Given the description of an element on the screen output the (x, y) to click on. 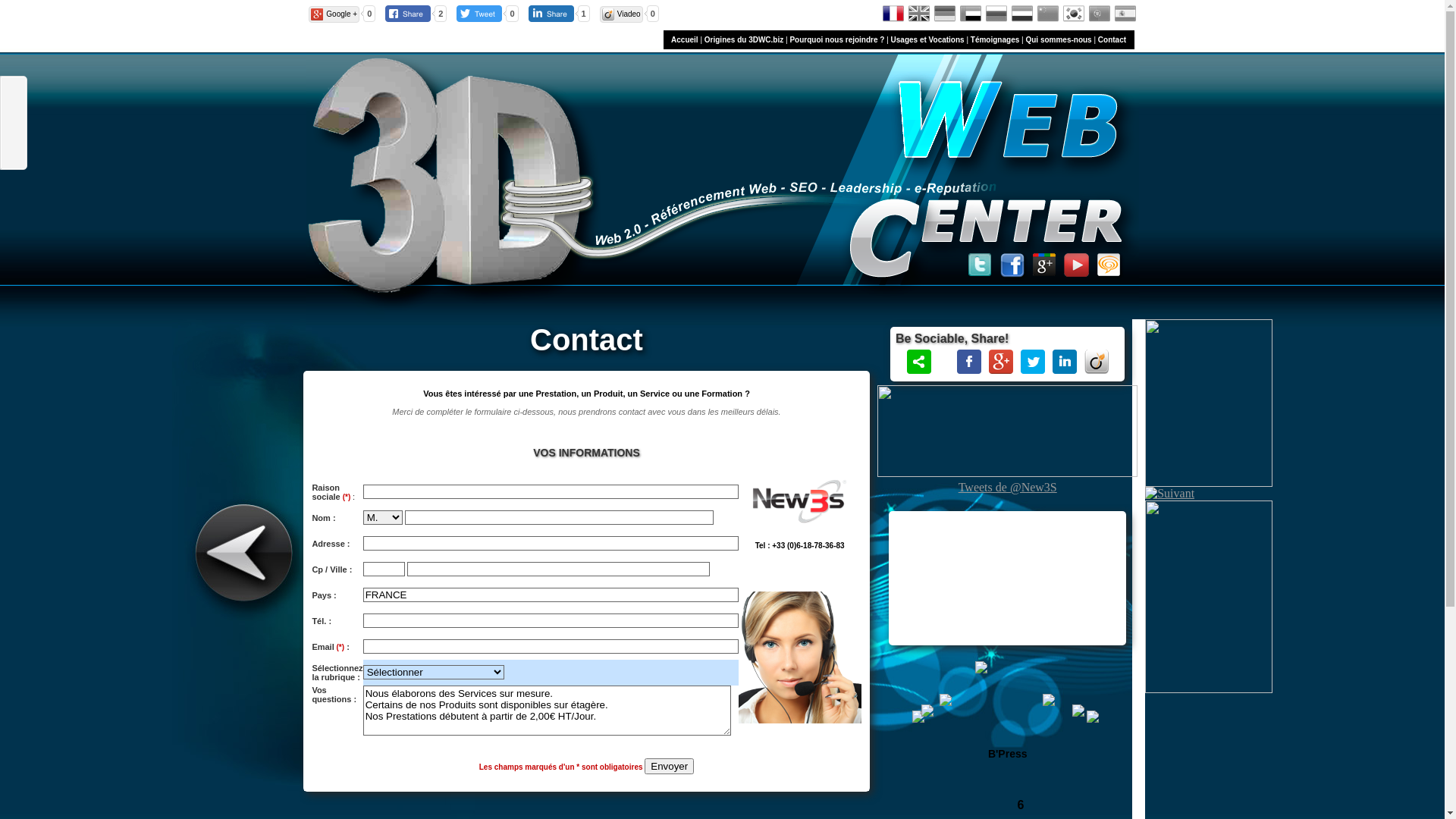
Qui sommes-nous Element type: text (1058, 39)
Suivant Element type: hover (1169, 493)
Envoyer Element type: text (668, 766)
Tweets de @New3S Element type: text (1007, 486)
Usages et Vocations Element type: text (927, 39)
Pourquoi nous rejoindre ? Element type: text (836, 39)
Contact Element type: text (1112, 39)
Origines du 3DWC.biz Element type: text (743, 39)
Accueil Element type: text (684, 39)
